Given the description of an element on the screen output the (x, y) to click on. 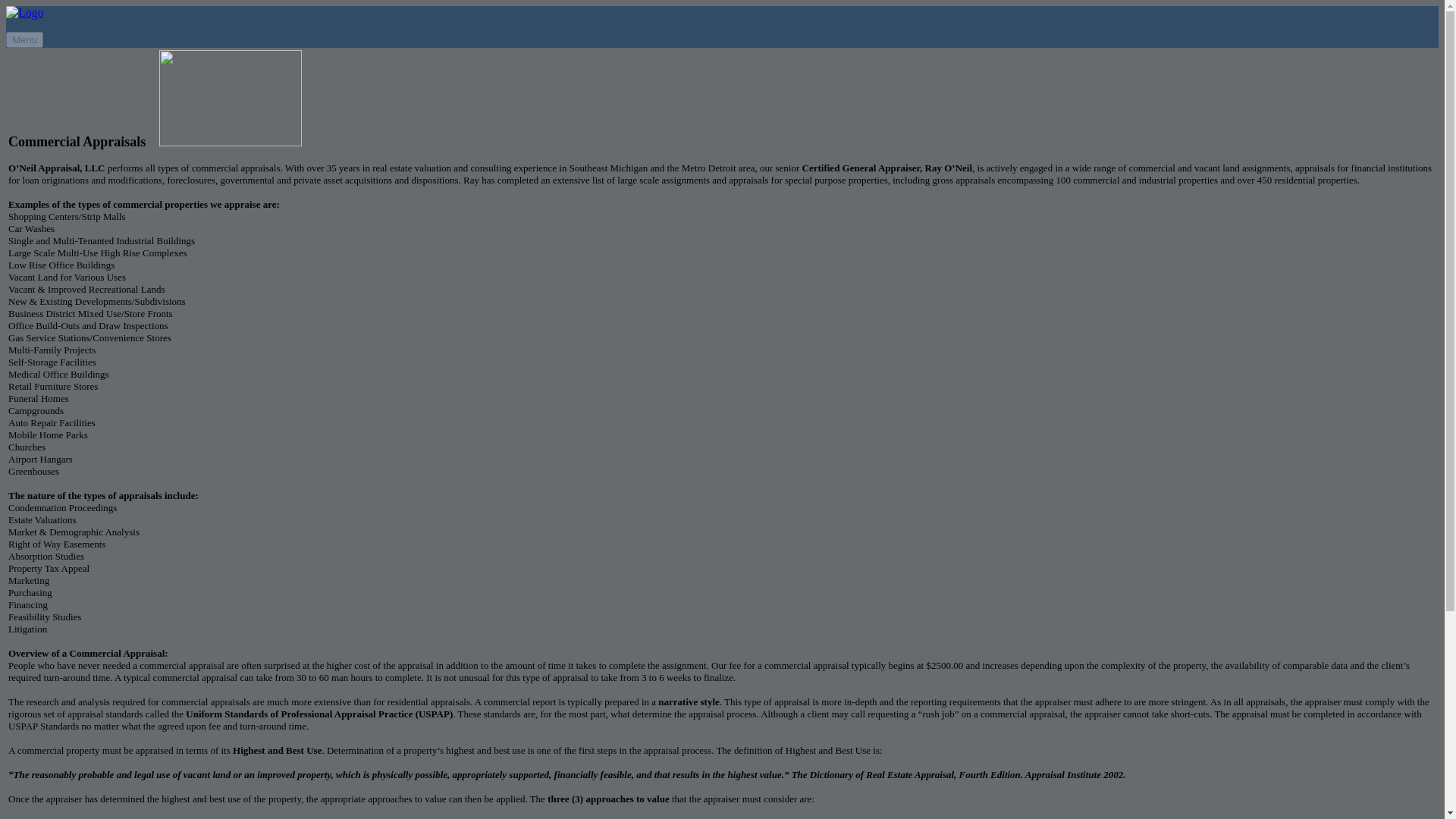
Menu (24, 39)
